Given the description of an element on the screen output the (x, y) to click on. 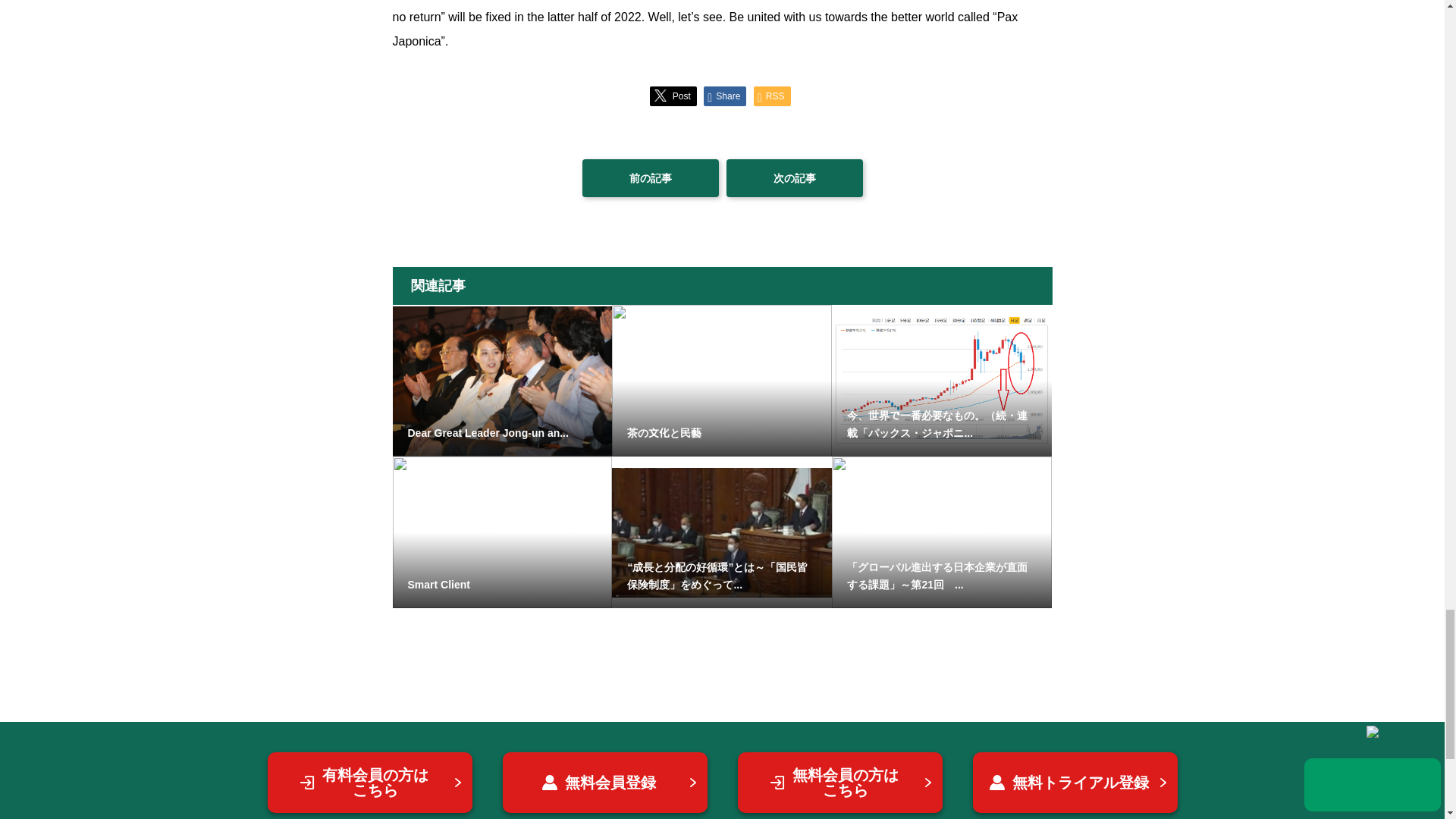
Post (672, 96)
RSS (772, 96)
Share (724, 96)
Dear Great Leader Jong-un an... (502, 380)
